Given the description of an element on the screen output the (x, y) to click on. 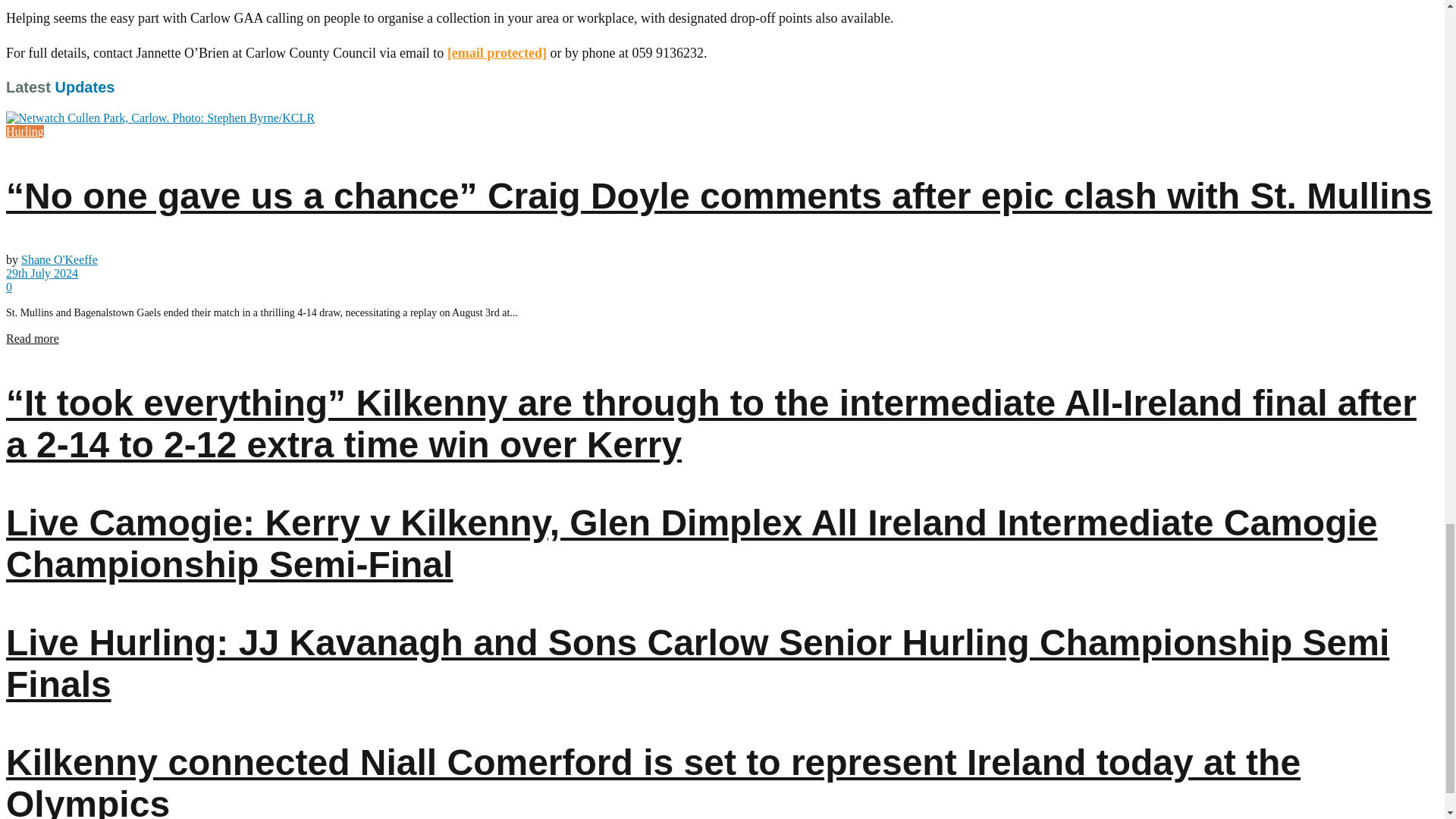
0 (8, 286)
29th July 2024 (41, 273)
Read more (32, 338)
Hurling (24, 131)
Shane O'Keeffe (59, 259)
